Given the description of an element on the screen output the (x, y) to click on. 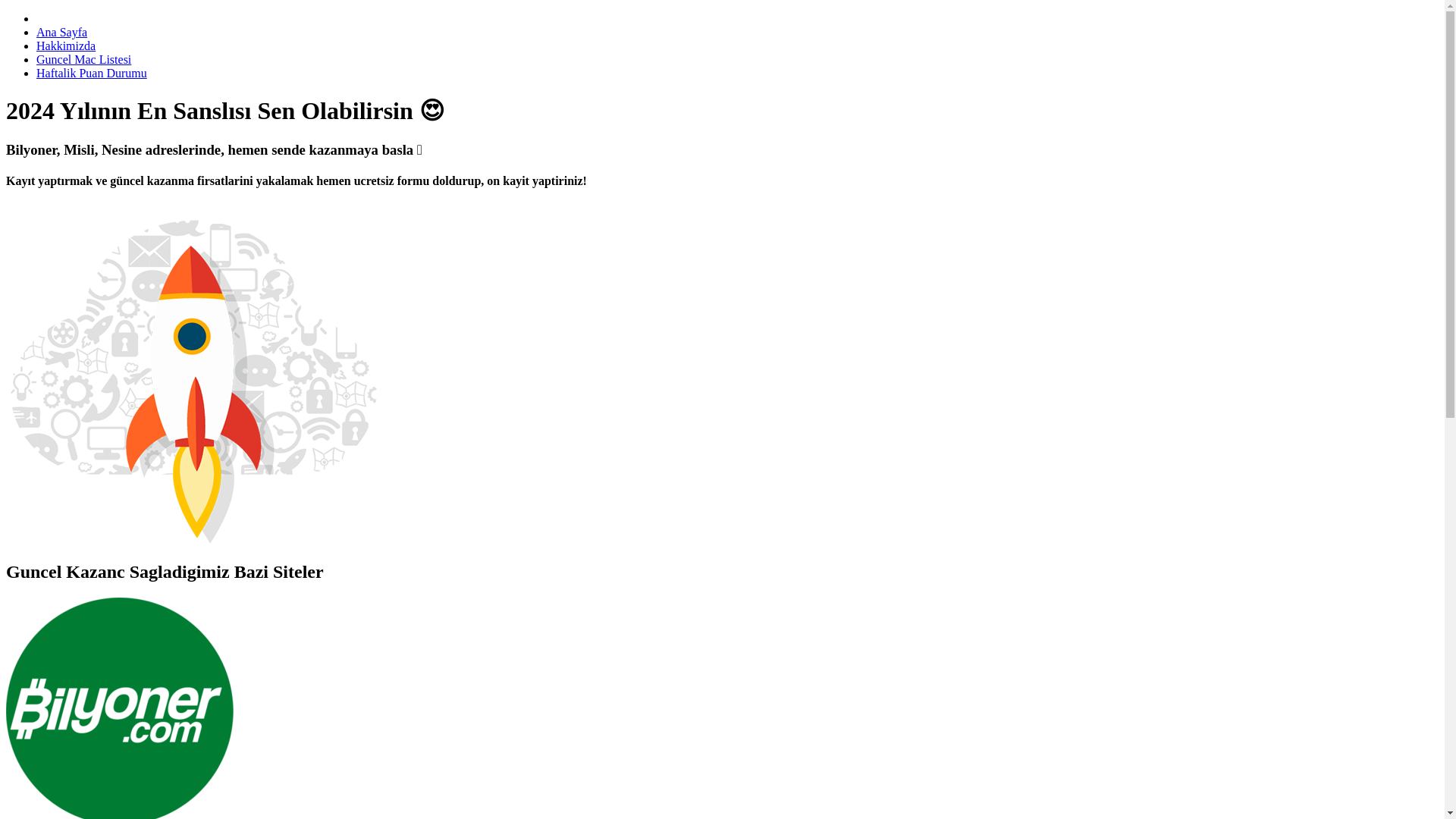
Hakkimizda (66, 45)
Ana Sayfa (61, 31)
Hakkimizda (66, 45)
Ana Sayfa (61, 31)
Haftalik Puan Durumu (91, 72)
Haftalik Puan Durumu (91, 72)
Guncel Mac Listesi (83, 59)
Guncel Mac Listesi (83, 59)
